Given the description of an element on the screen output the (x, y) to click on. 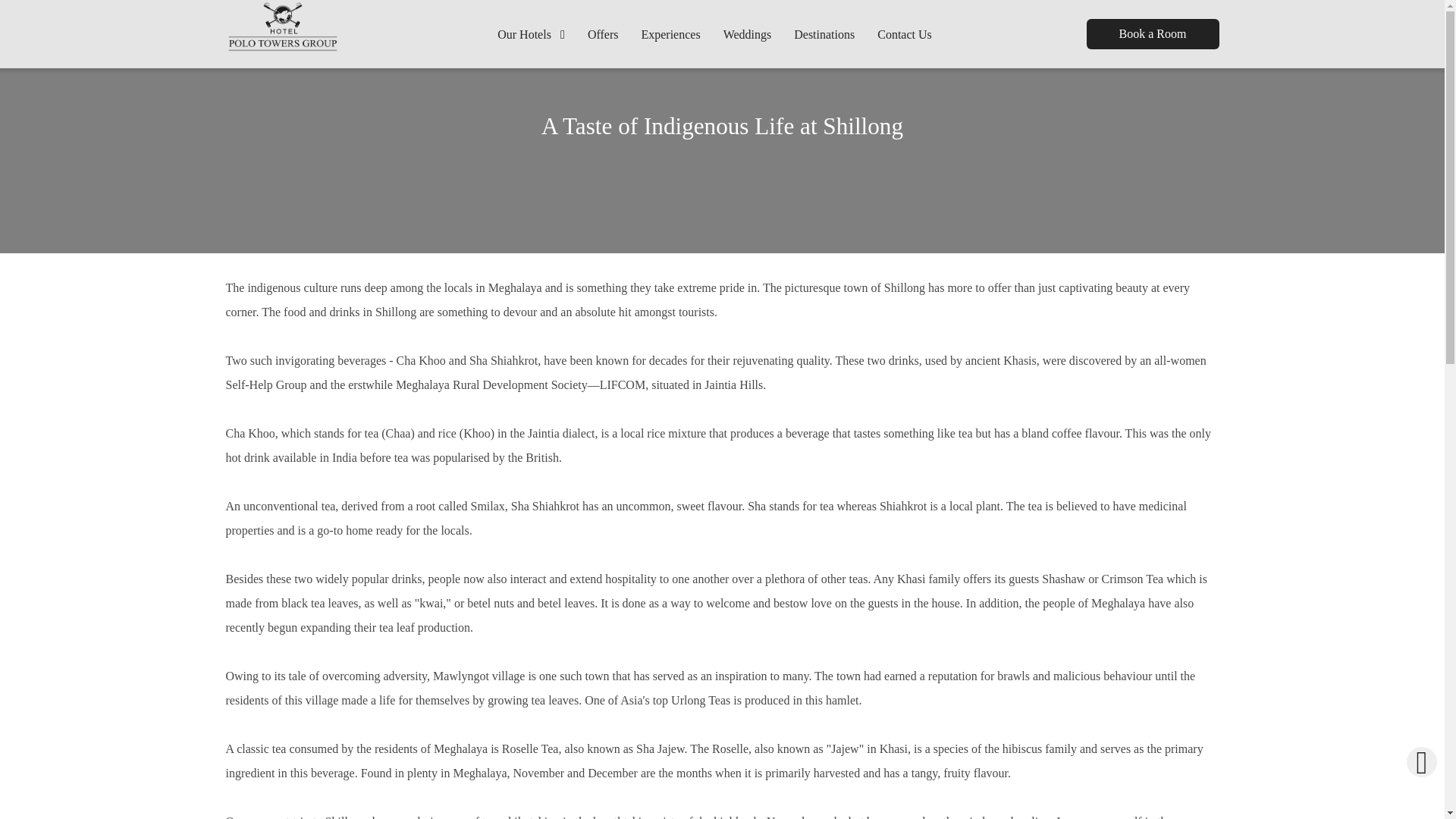
Our Hotels (536, 33)
Contact Us (904, 33)
Weddings (747, 33)
Destinations (824, 33)
Experiences (669, 33)
Book a Room (1152, 33)
